Given the description of an element on the screen output the (x, y) to click on. 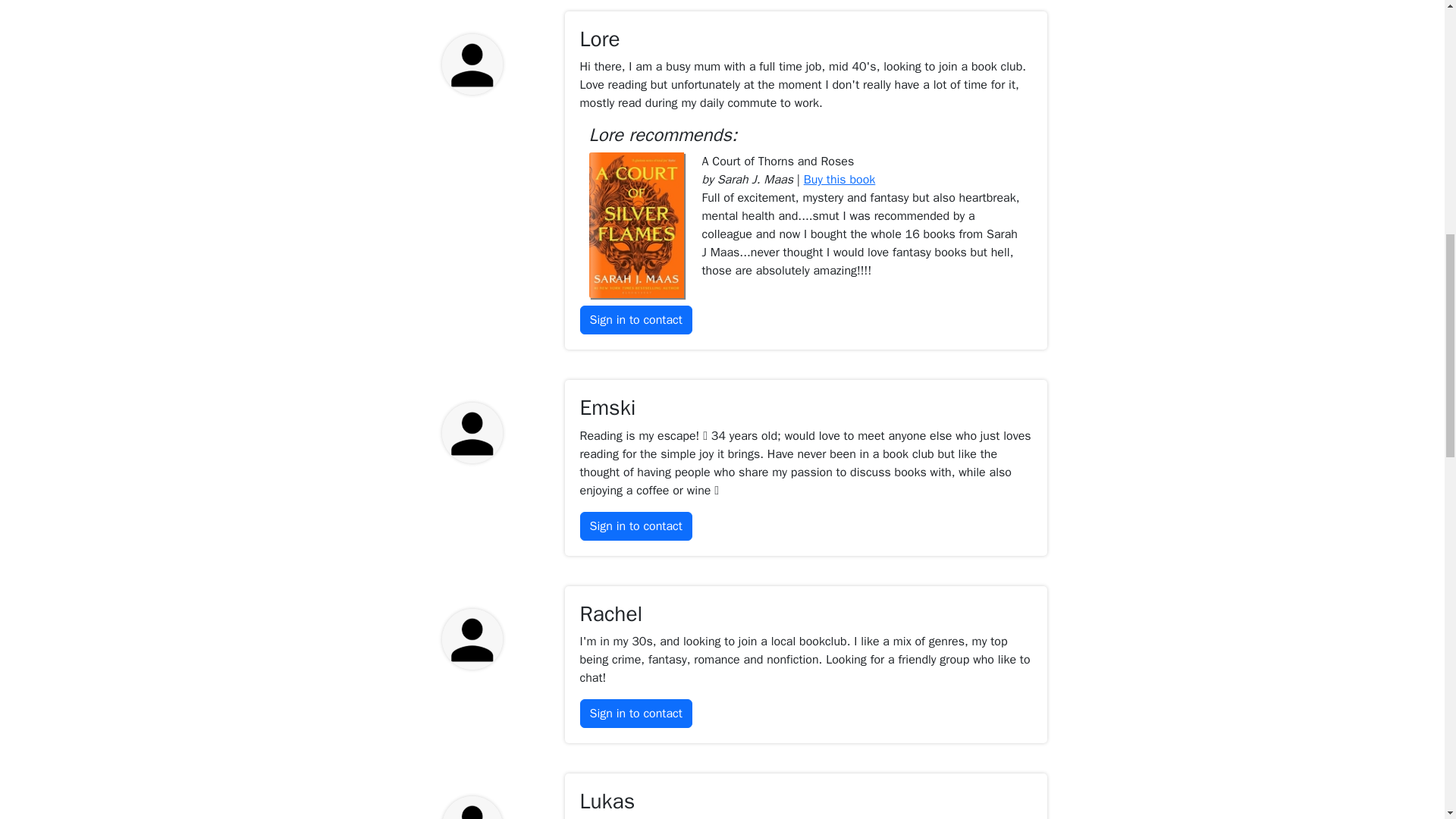
Sign in to contact (635, 319)
Buy this book (839, 179)
Sign in to contact (635, 525)
Sign in to contact (635, 713)
